Given the description of an element on the screen output the (x, y) to click on. 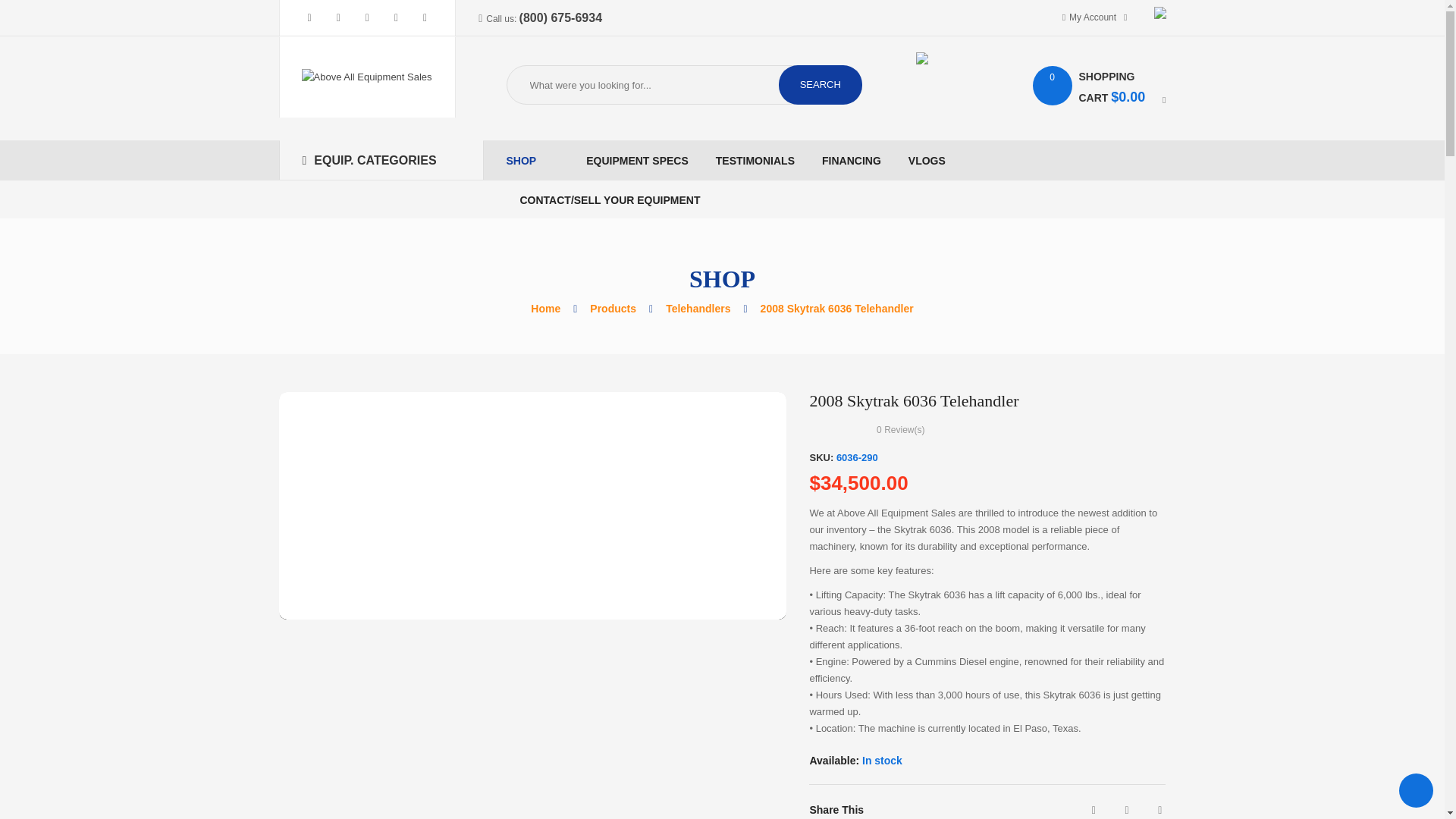
SEARCH (819, 84)
SHOP (532, 160)
